Given the description of an element on the screen output the (x, y) to click on. 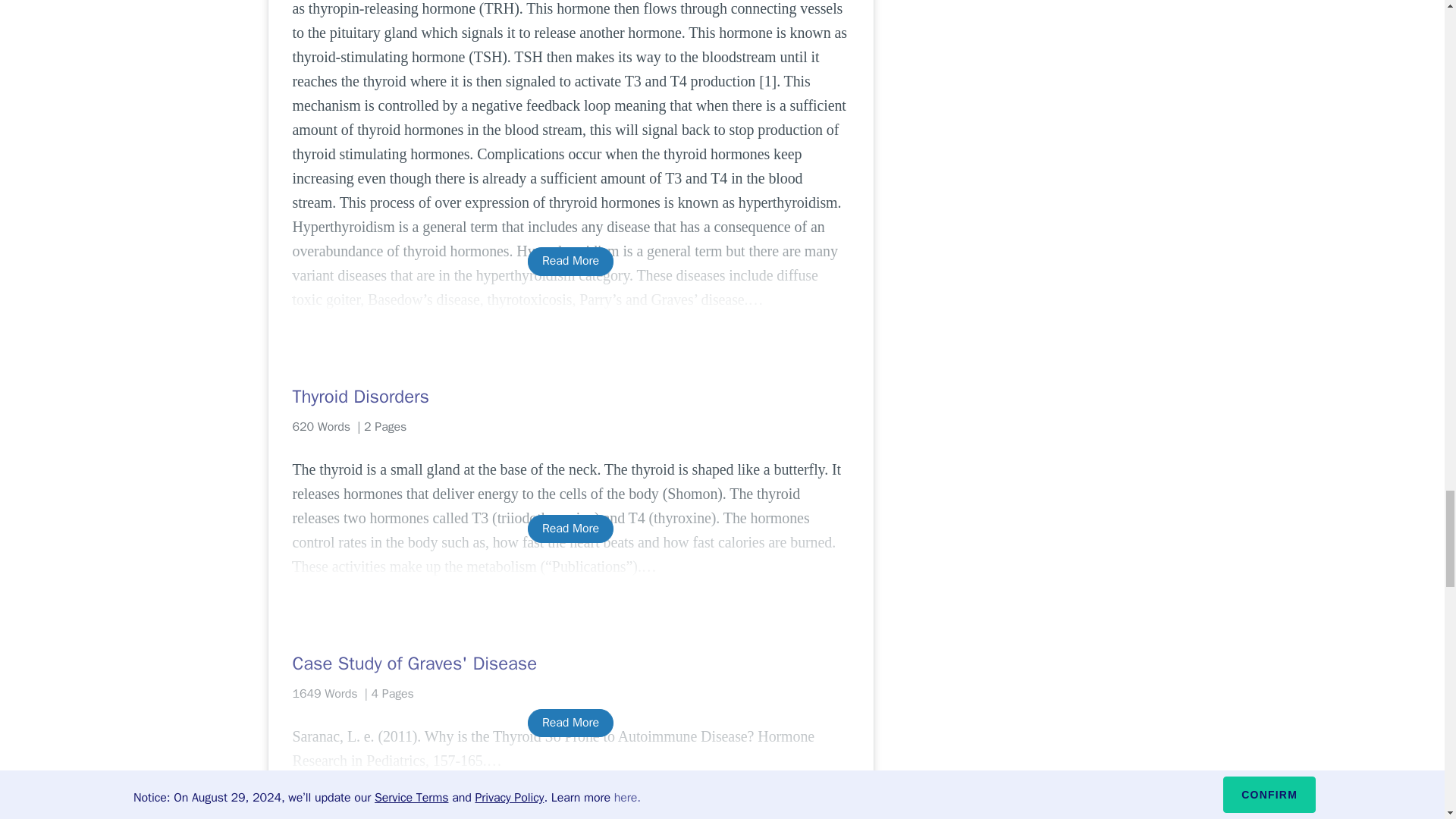
Case Study of Graves' Disease (570, 663)
Thyroid Disorders (570, 396)
Read More (569, 723)
Read More (569, 528)
Read More (569, 261)
